Given the description of an element on the screen output the (x, y) to click on. 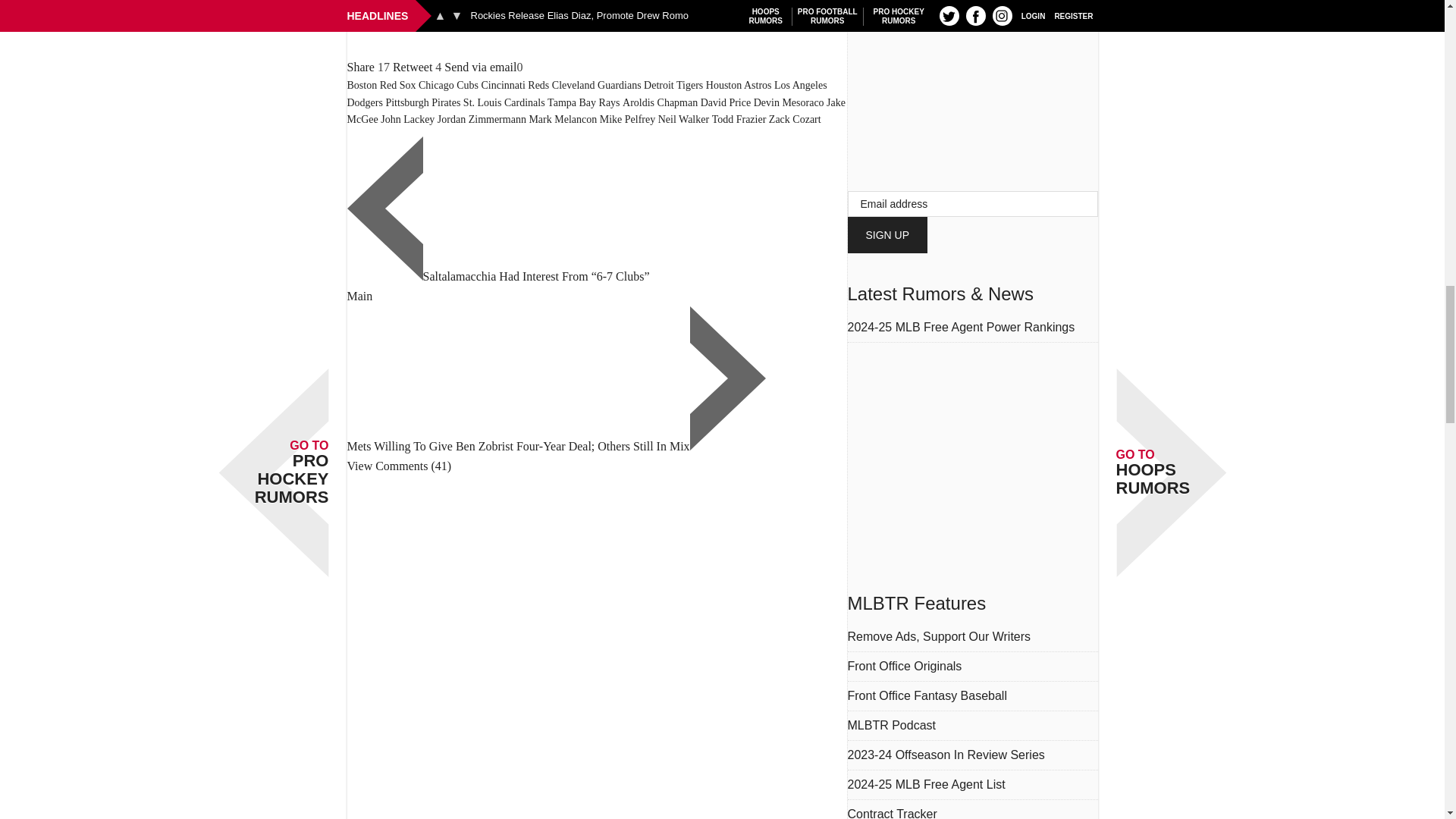
Sign Up (887, 235)
